Given the description of an element on the screen output the (x, y) to click on. 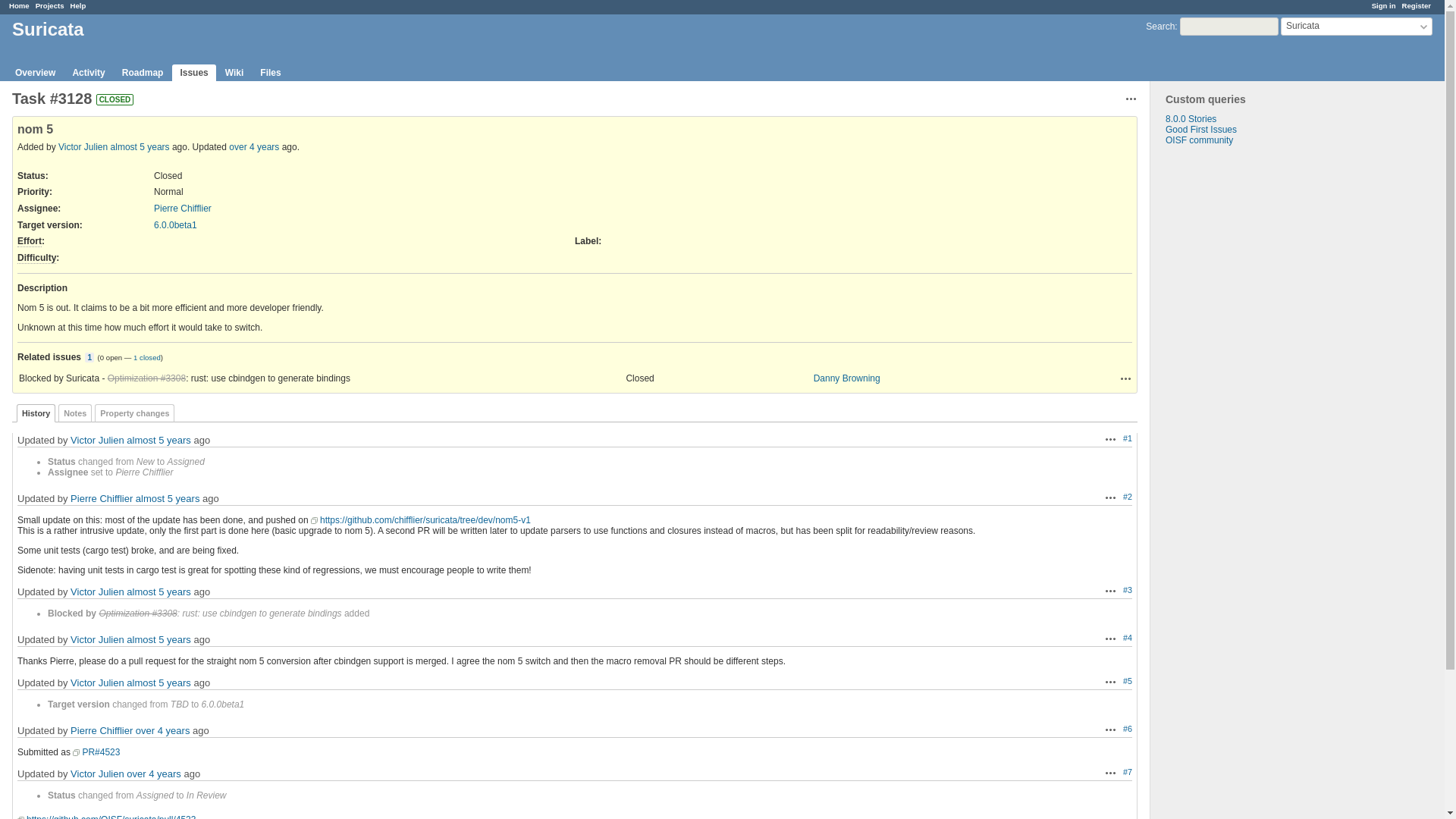
Roadmap (143, 72)
Actions (1110, 681)
Sign in (1383, 5)
1 closed (146, 356)
Home (18, 5)
Victor Julien (82, 146)
Issues (193, 72)
Help (77, 5)
Activity (88, 72)
8.0.0 Stories (1190, 118)
